Given the description of an element on the screen output the (x, y) to click on. 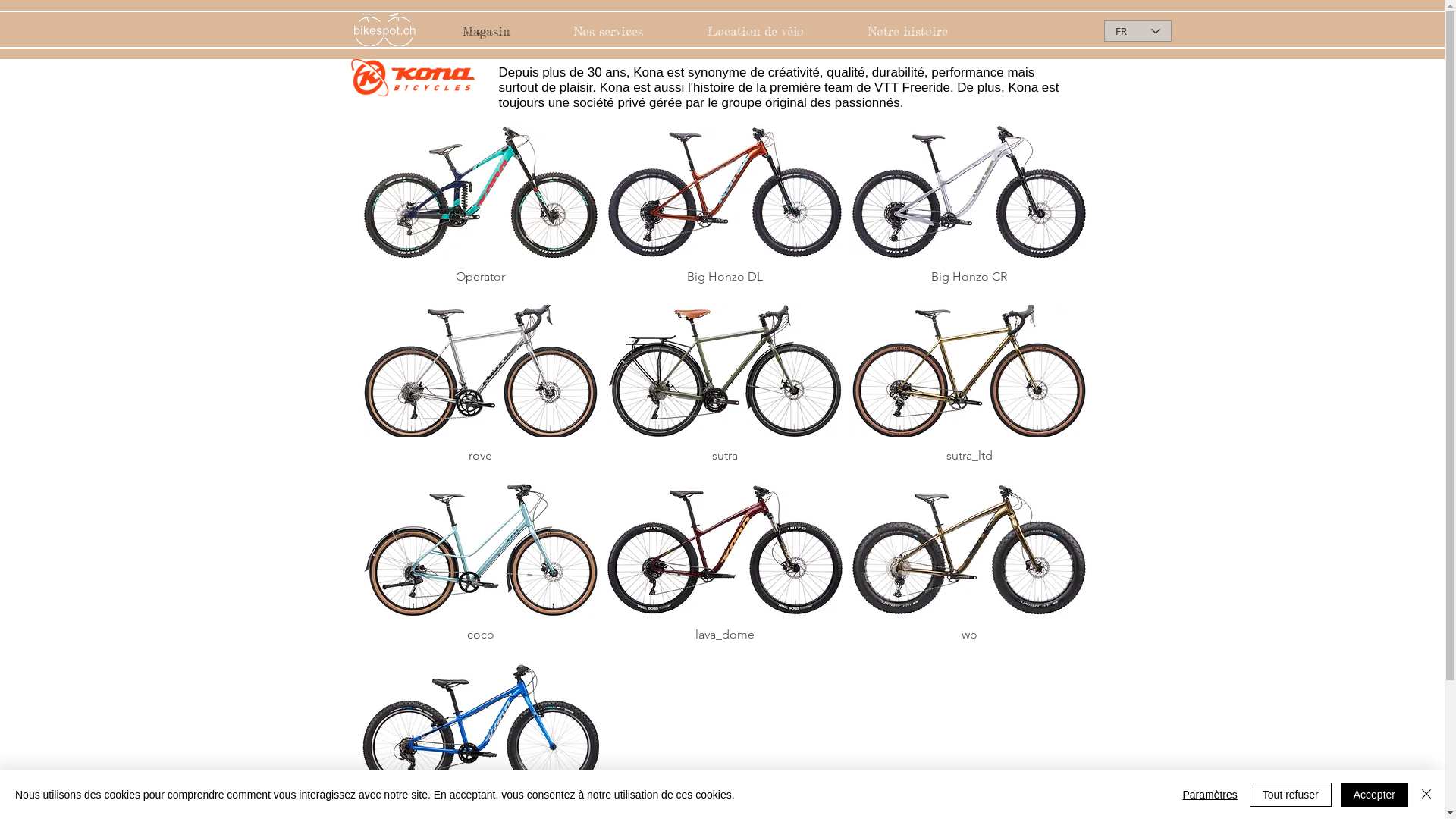
Site Search Element type: hover (1035, 32)
Magasin Element type: text (486, 30)
Nos services Element type: text (607, 30)
Notre histoire Element type: text (907, 30)
Accepter Element type: text (1374, 794)
Tout refuser Element type: text (1290, 794)
